Given the description of an element on the screen output the (x, y) to click on. 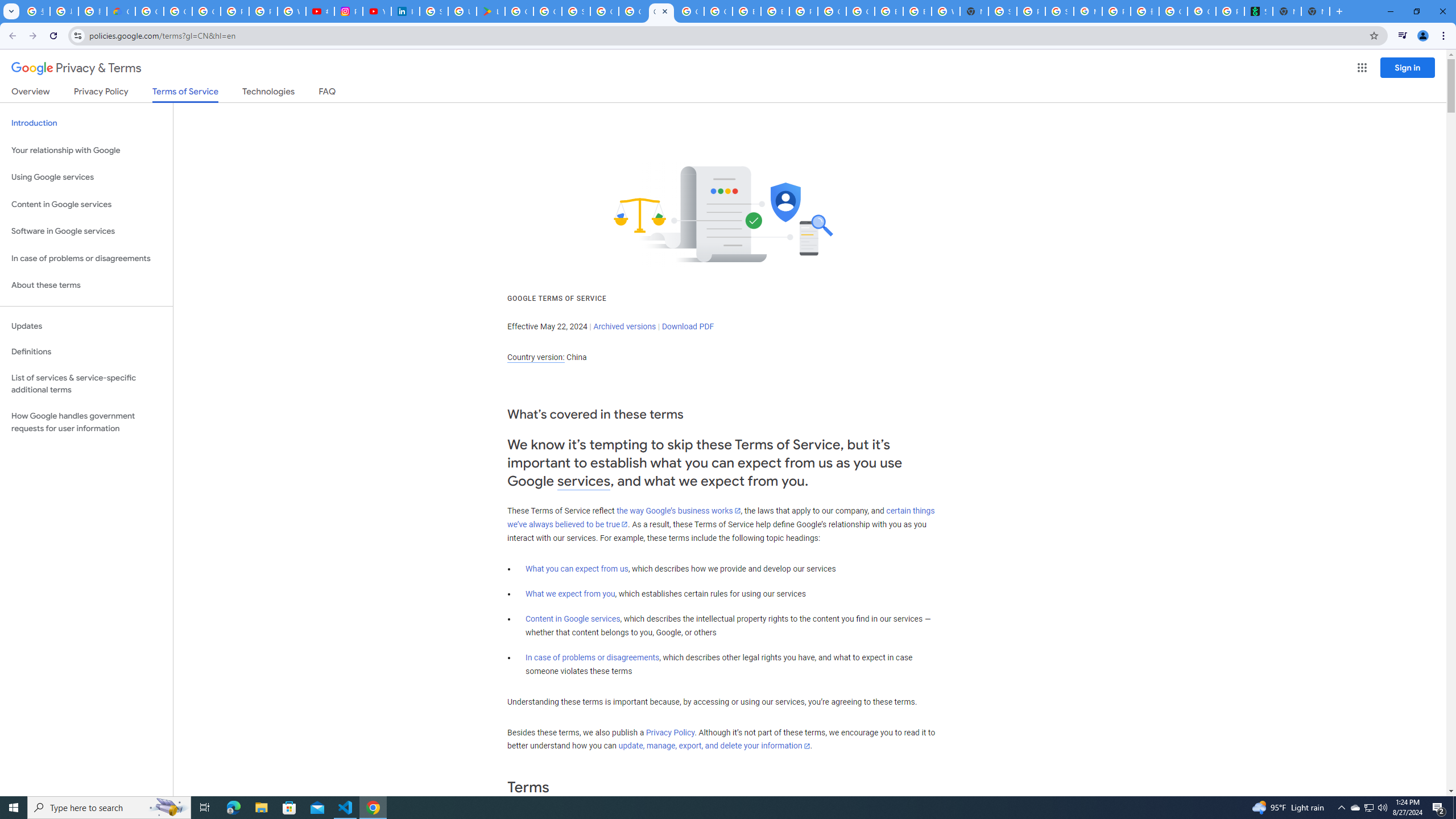
Browse Chrome as a guest - Computer - Google Chrome Help (774, 11)
Google Cloud Platform (604, 11)
Content in Google services (572, 618)
What we expect from you (570, 593)
Sign in - Google Accounts (433, 11)
Software in Google services (86, 230)
